Given the description of an element on the screen output the (x, y) to click on. 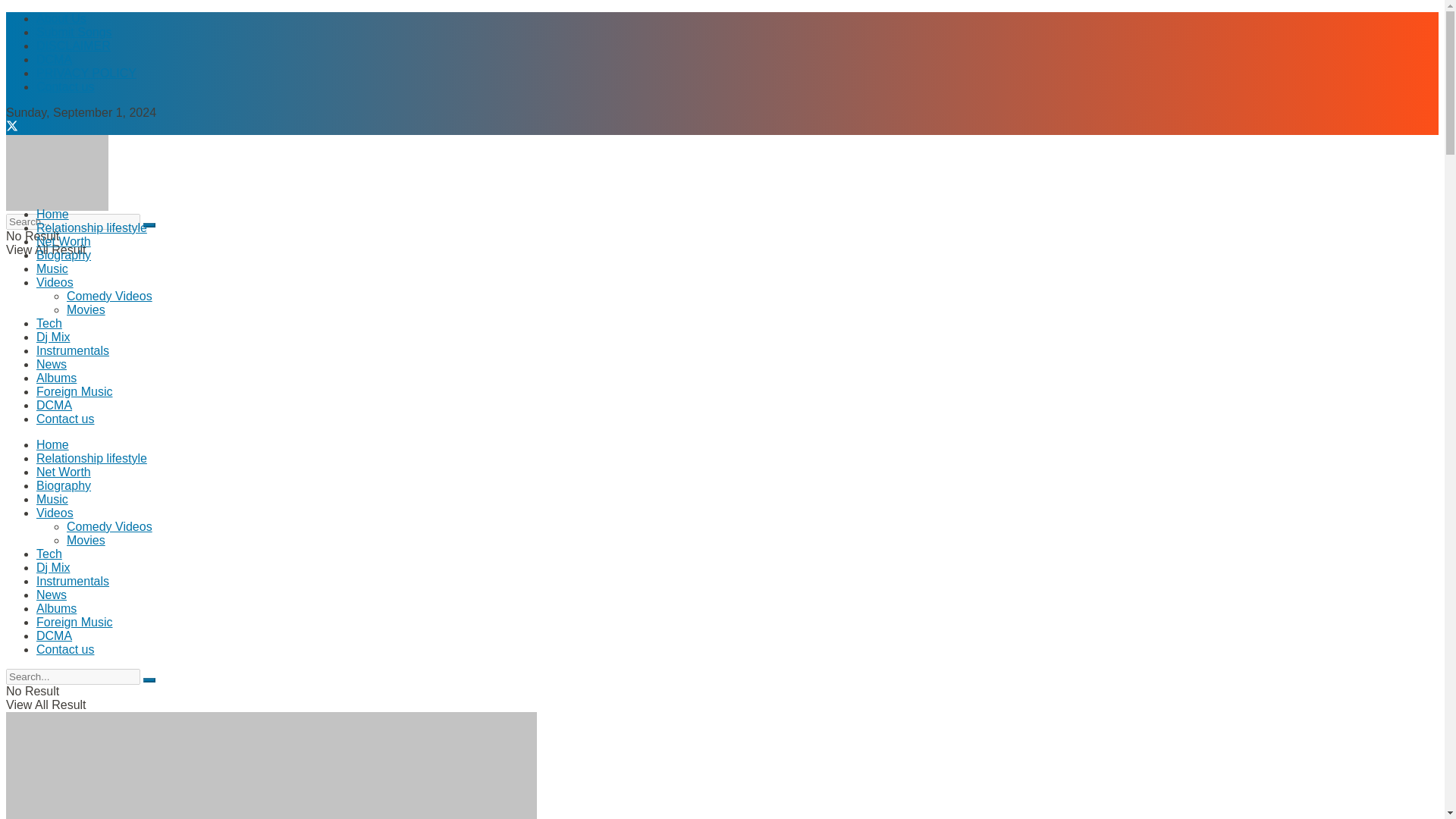
Albums (56, 377)
Biography (63, 254)
DISCLAIMER (73, 45)
Net Worth (63, 241)
Movies (85, 540)
DCMA (53, 59)
Contact us (65, 418)
Albums (56, 608)
Music (52, 268)
Dj Mix (52, 567)
